Given the description of an element on the screen output the (x, y) to click on. 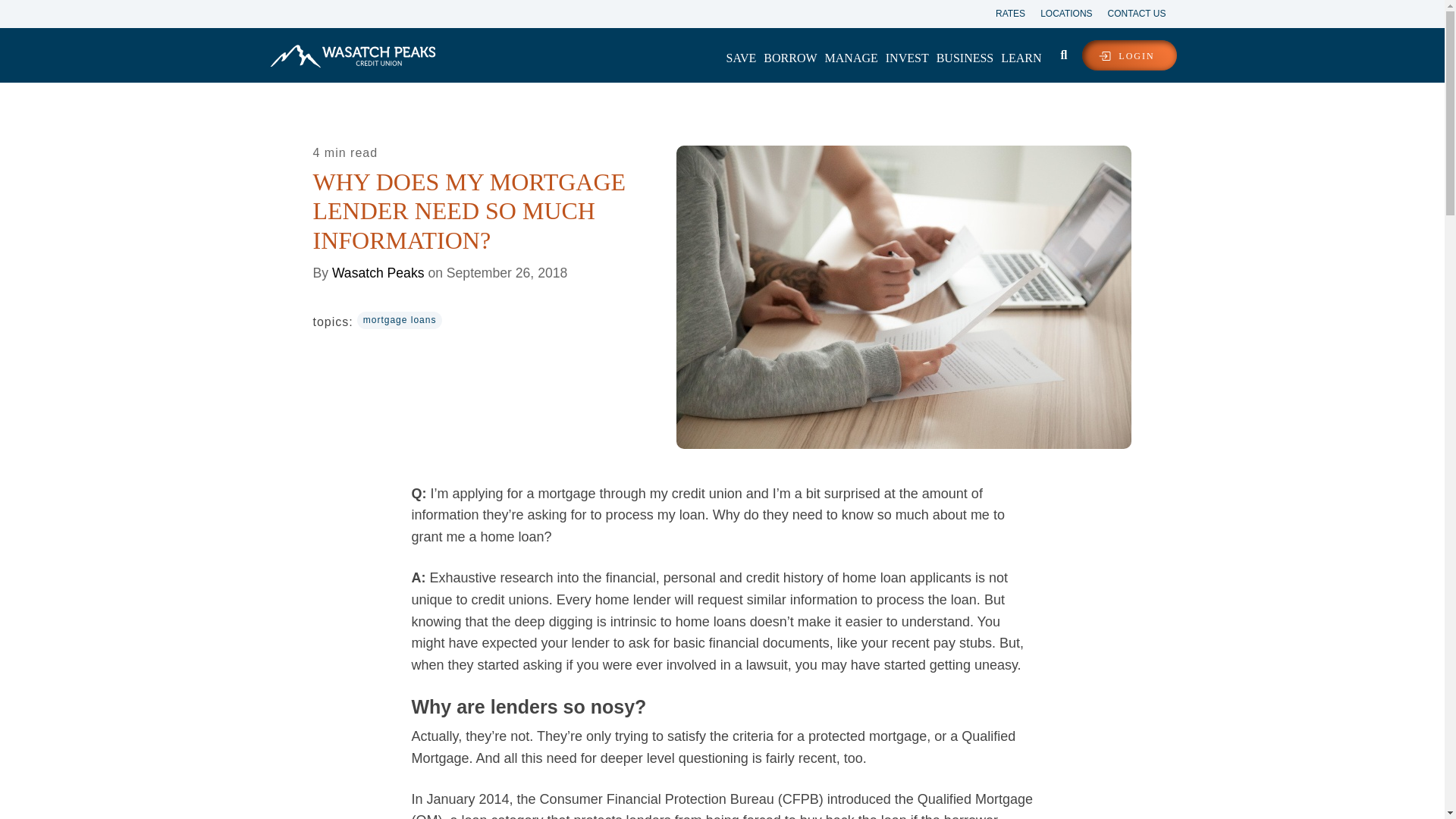
BORROW (790, 58)
RATES (1002, 12)
LOGIN (1128, 55)
LOCATIONS (1058, 12)
SAVE (741, 58)
CONTACT US (1129, 12)
